Given the description of an element on the screen output the (x, y) to click on. 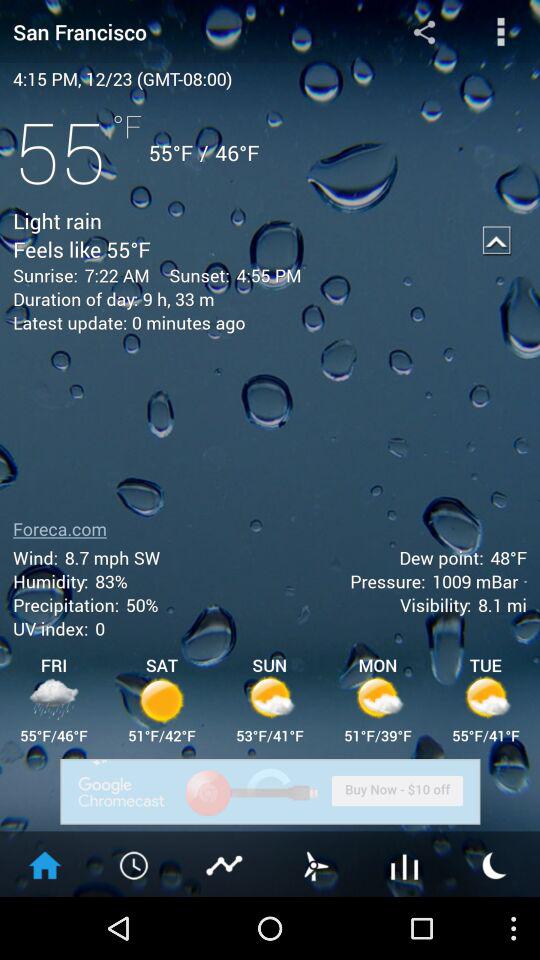
select dark mode (495, 864)
